Given the description of an element on the screen output the (x, y) to click on. 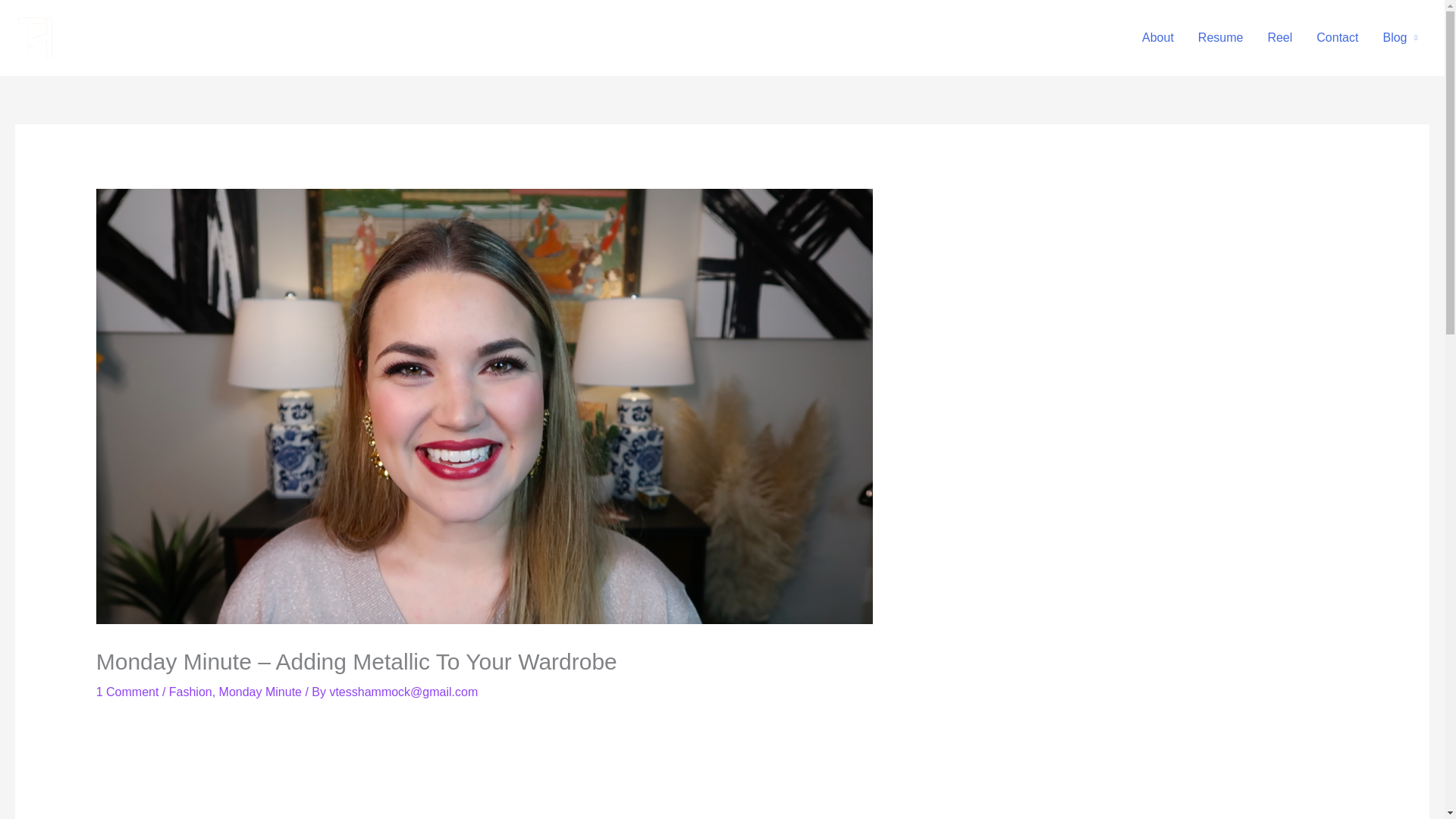
Monday Minute (260, 691)
1 Comment (127, 691)
Reel (1279, 37)
Fashion (190, 691)
Blog (1399, 37)
About (1157, 37)
Resume (1220, 37)
Contact (1337, 37)
